Given the description of an element on the screen output the (x, y) to click on. 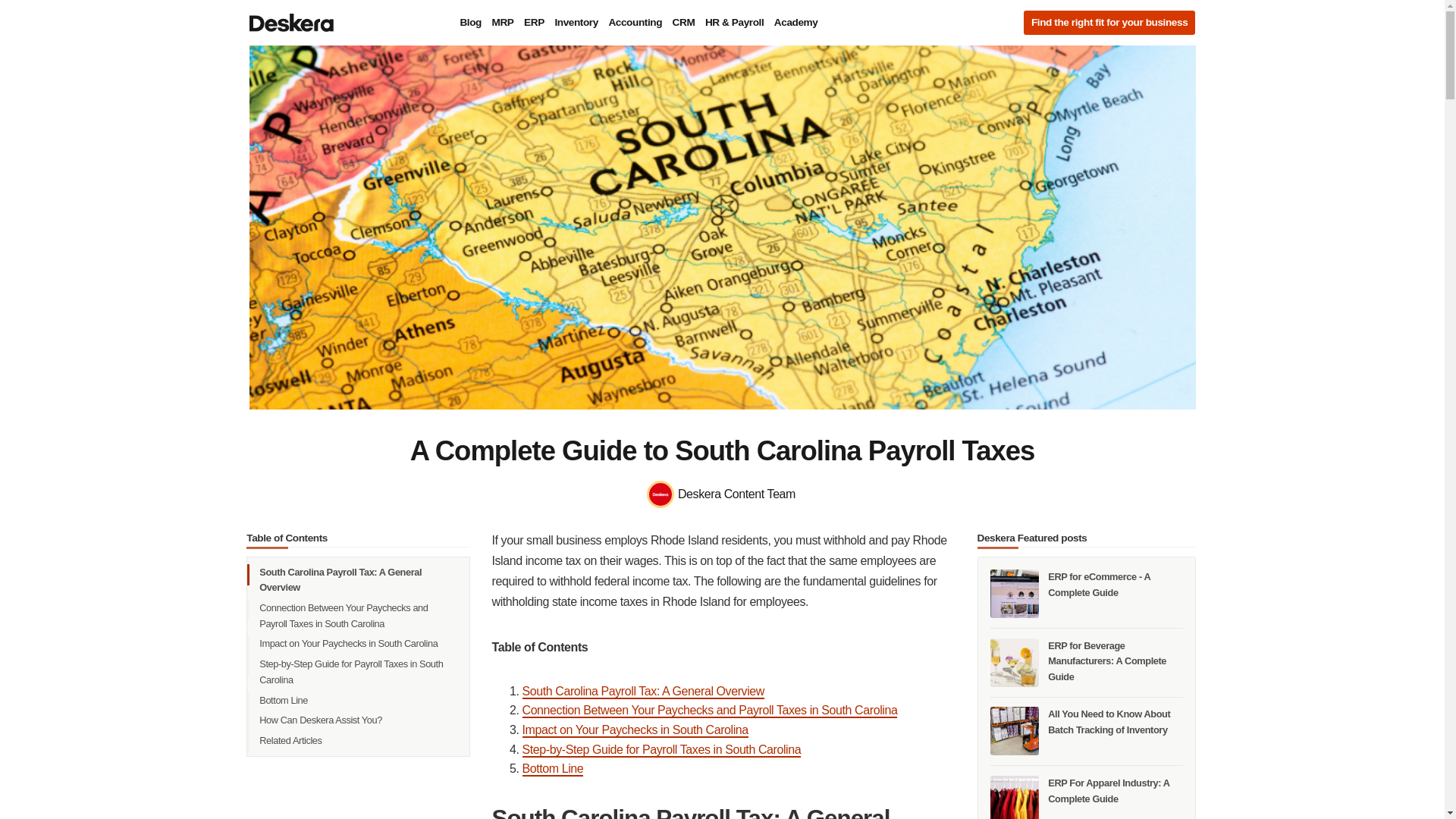
Inventory (575, 22)
ERP (534, 22)
Step-by-Step Guide for Payroll Taxes in South Carolina (358, 672)
MRP (502, 22)
How Can Deskera Assist You? (358, 720)
Academy (795, 22)
Accounting (634, 22)
Deskera Content Team (721, 494)
Find the right fit for your business (1109, 22)
South Carolina Payroll Tax: A General Overview (358, 580)
